Given the description of an element on the screen output the (x, y) to click on. 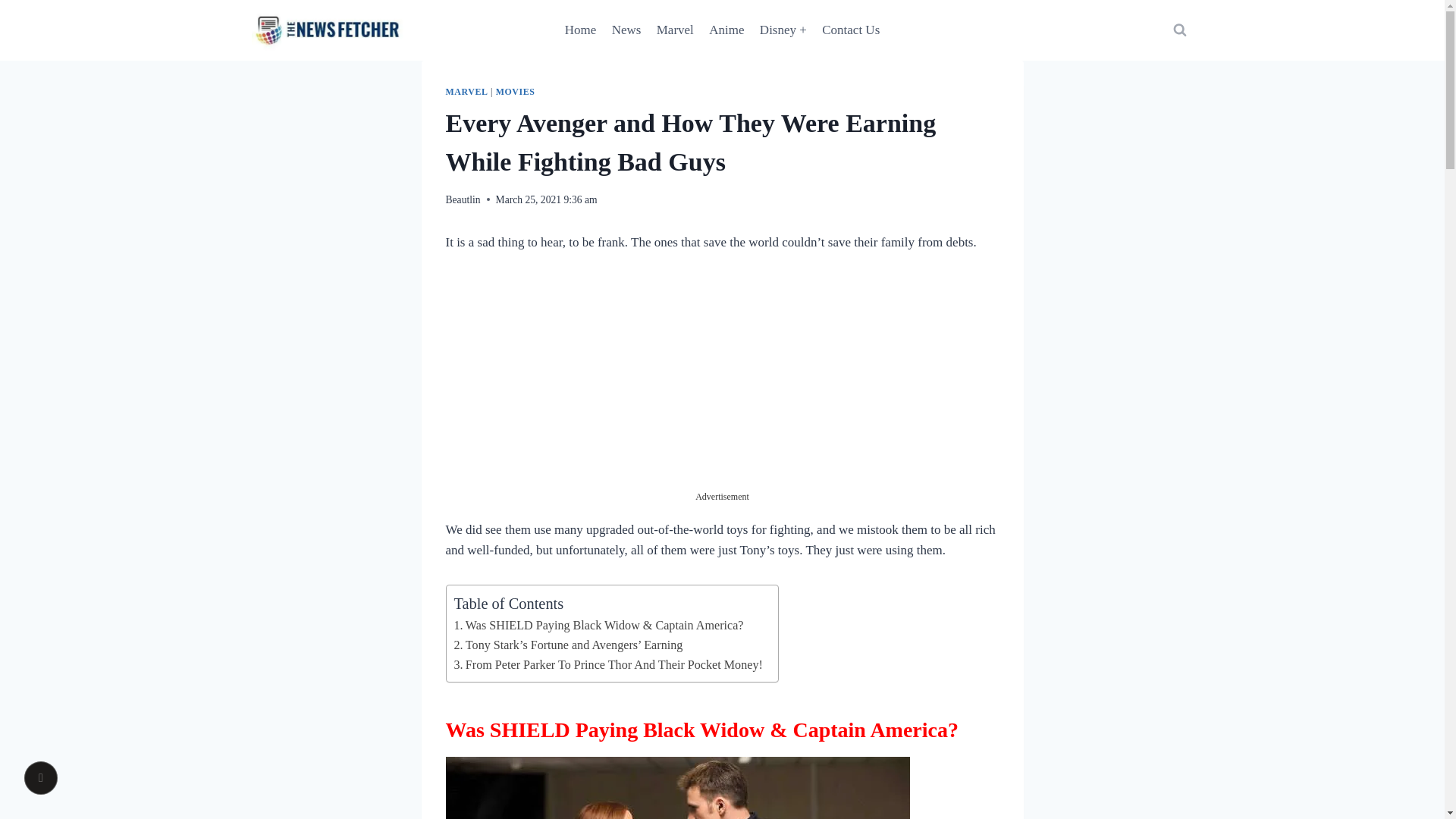
MOVIES (515, 91)
From Peter Parker To Prince Thor And Their Pocket Money! (606, 664)
Home (580, 30)
Anime (726, 30)
From Peter Parker To Prince Thor And Their Pocket Money! (606, 664)
MARVEL (466, 91)
News (625, 30)
Contact Us (849, 30)
Advertisement (720, 383)
Beautlin (462, 199)
